Given the description of an element on the screen output the (x, y) to click on. 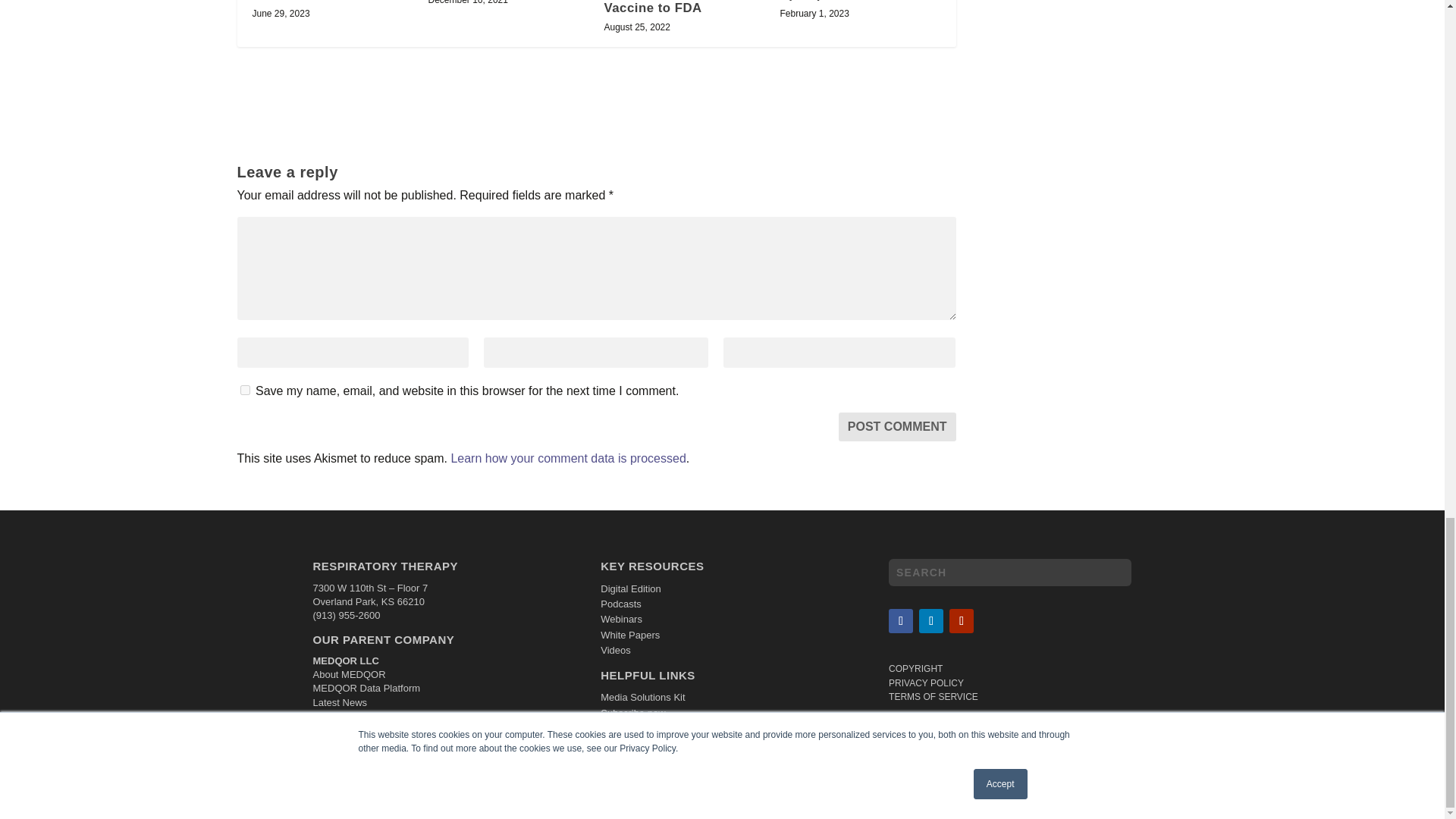
Post Comment (897, 426)
yes (244, 389)
